Given the description of an element on the screen output the (x, y) to click on. 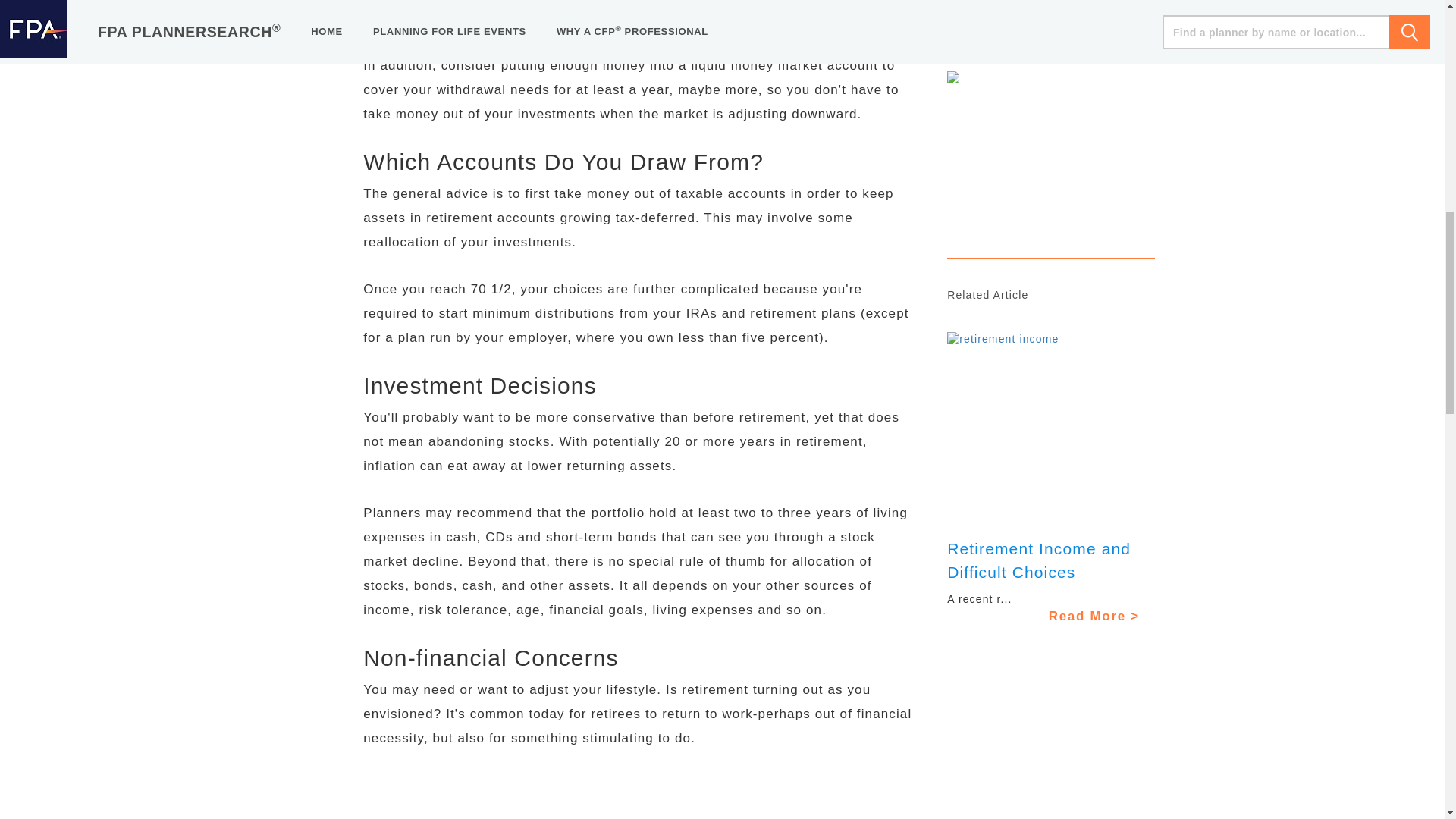
Retirement Income and Difficult Choices (1050, 426)
Retirement Income and Difficult Choices (1039, 560)
